Given the description of an element on the screen output the (x, y) to click on. 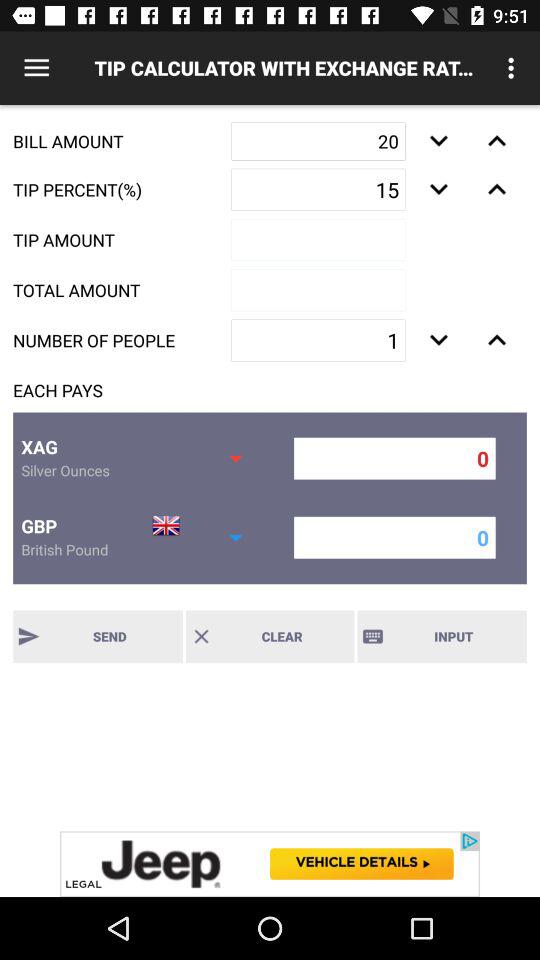
decrease tip percent amount (438, 189)
